Given the description of an element on the screen output the (x, y) to click on. 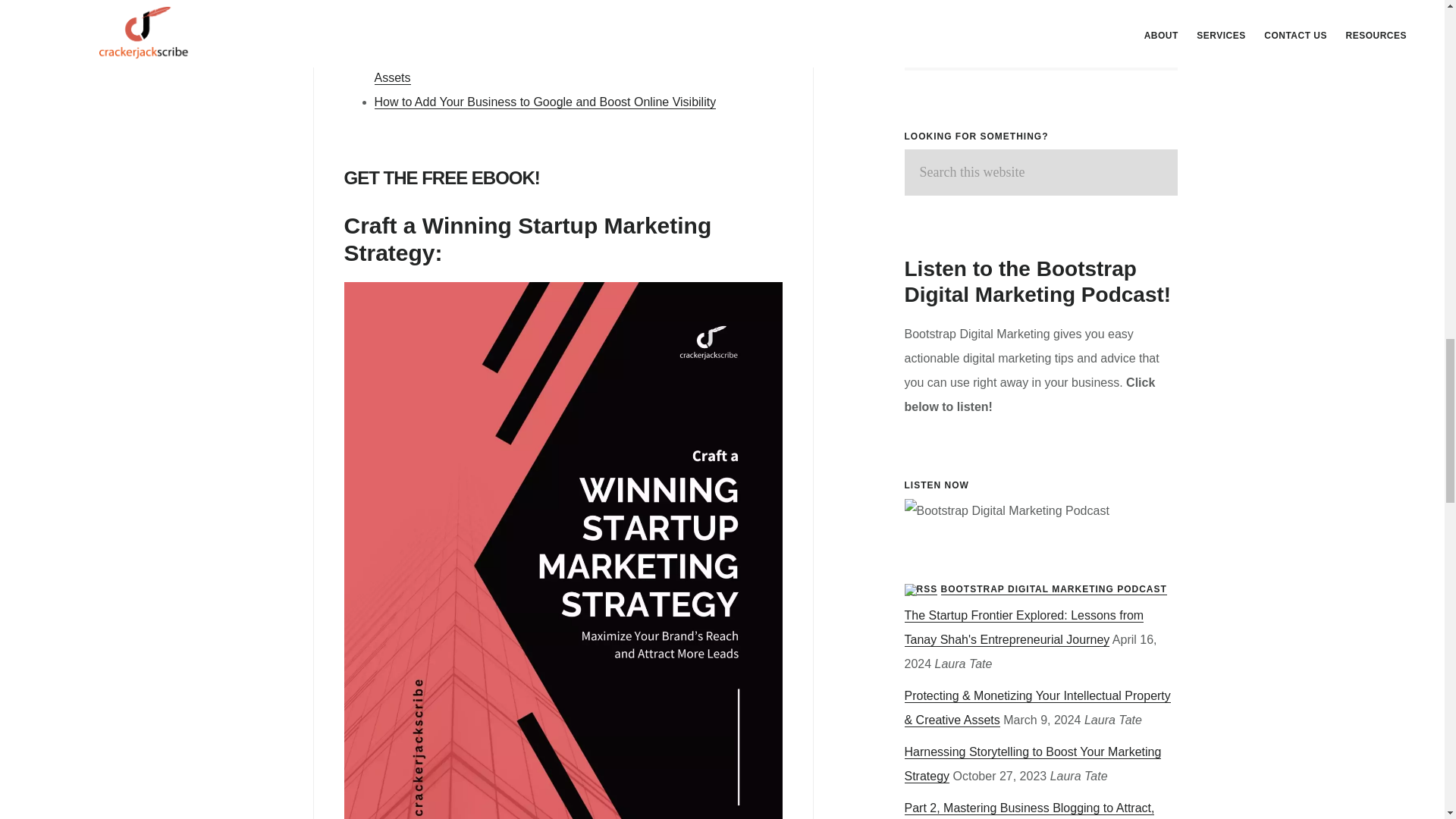
Startup Success: Exploring Entrepreneurial Paths (507, 29)
